Given the description of an element on the screen output the (x, y) to click on. 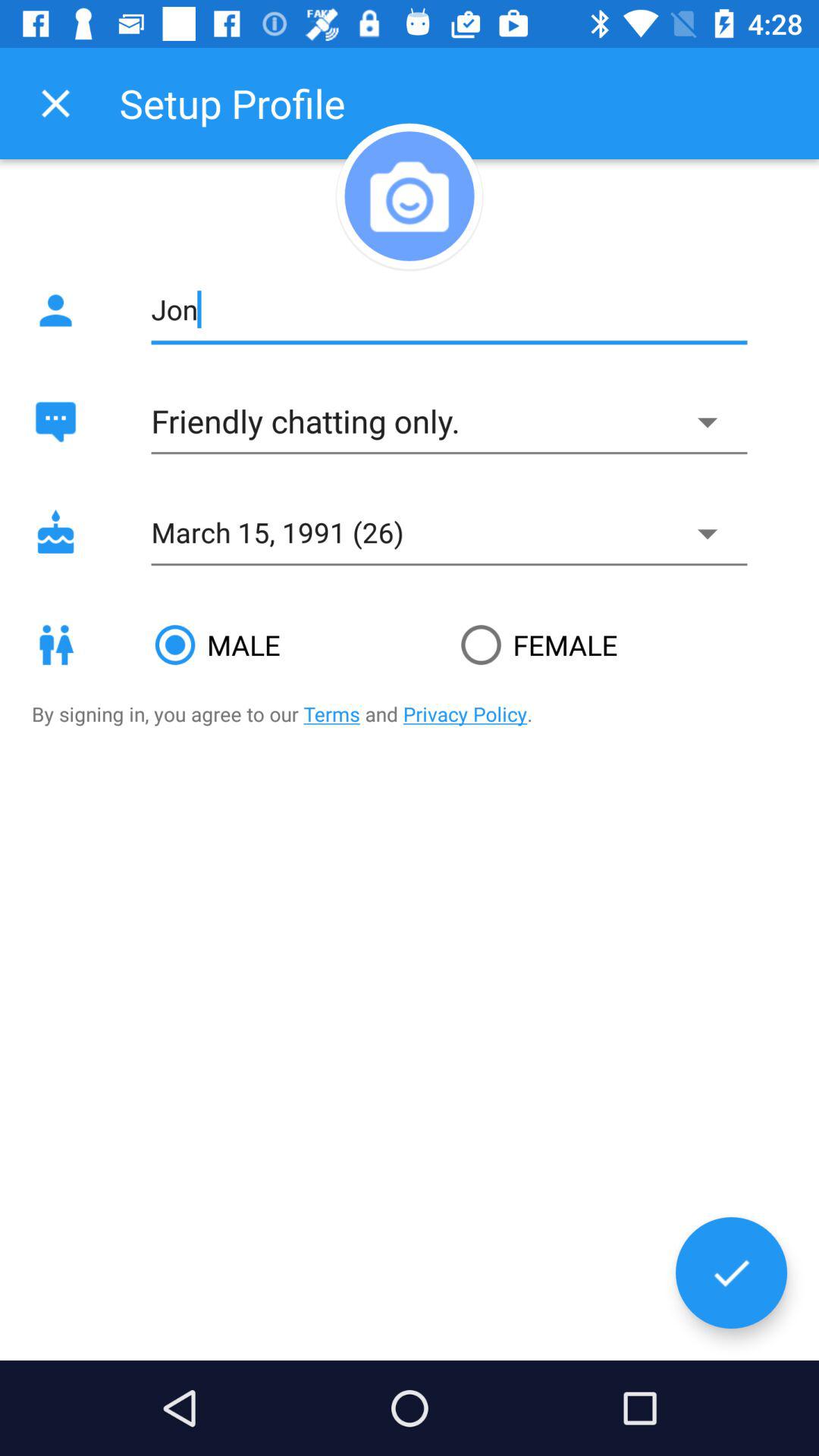
go forward (731, 1272)
